Given the description of an element on the screen output the (x, y) to click on. 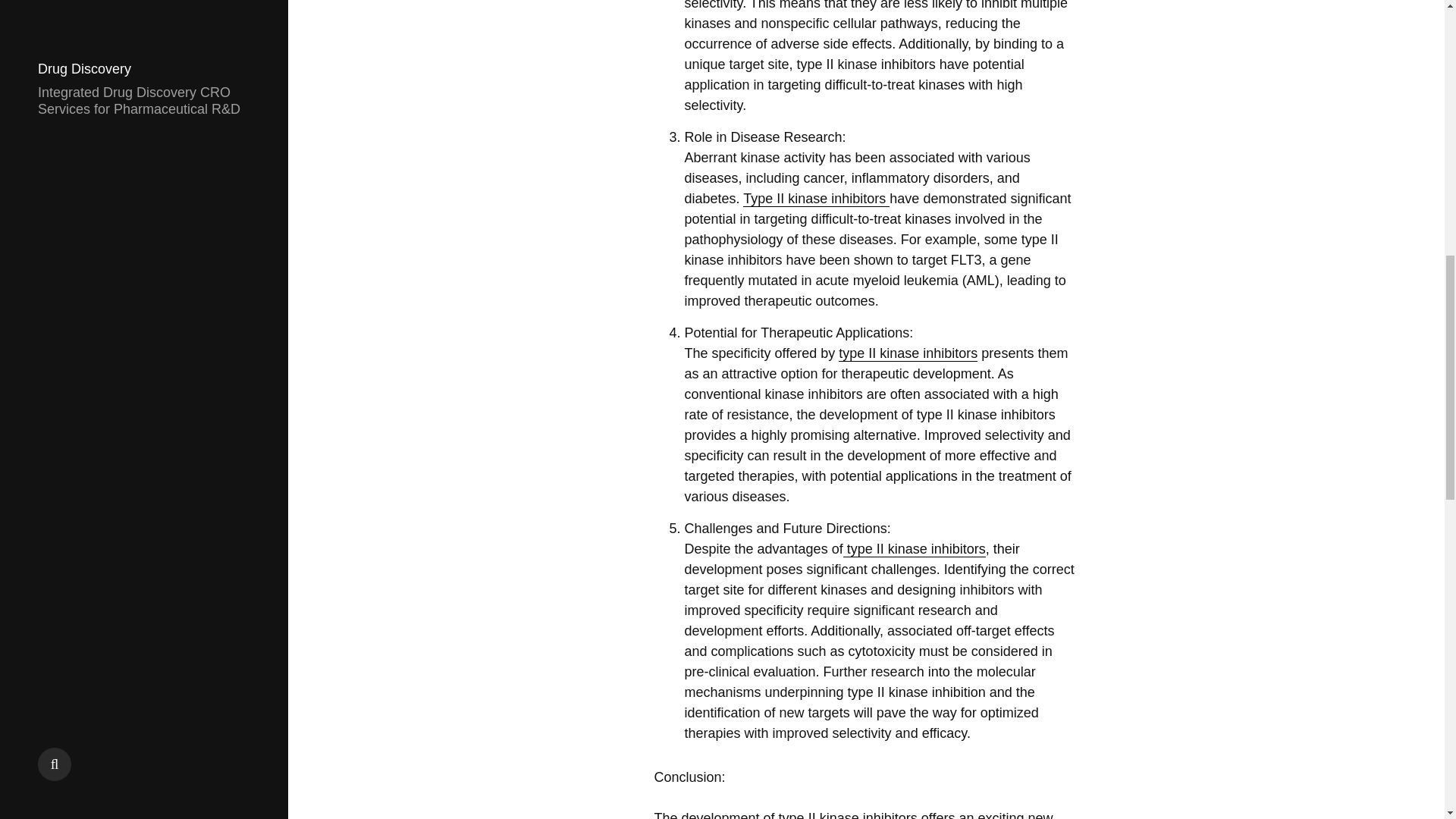
type II kinase inhibitors (849, 814)
type II kinase inhibitors (907, 353)
type II kinase inhibitors (914, 549)
Type II kinase inhibitors (815, 198)
